Given the description of an element on the screen output the (x, y) to click on. 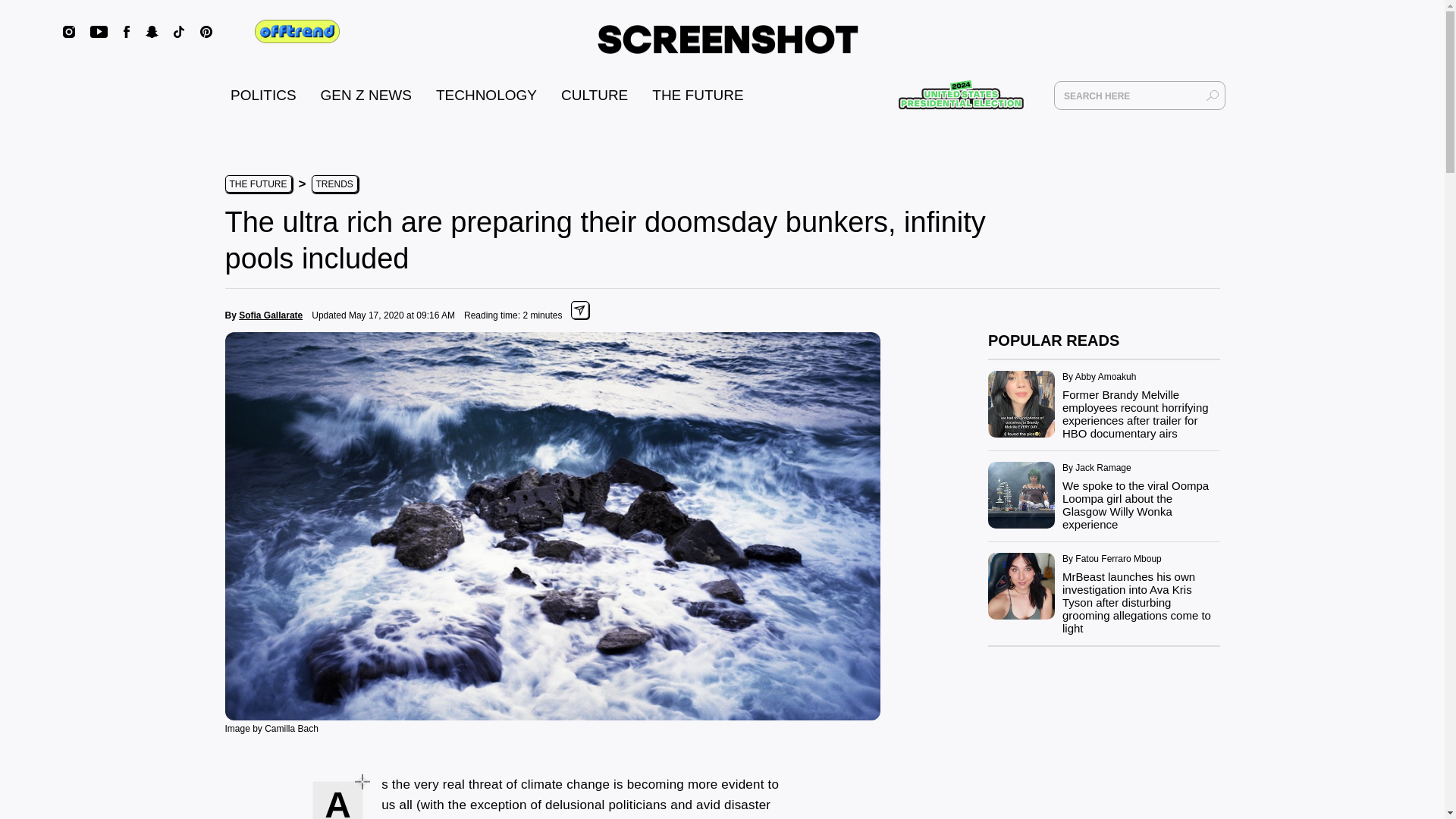
Sofia Gallarate (270, 315)
THE FUTURE (697, 94)
GEN Z NEWS (366, 94)
TRENDS (333, 184)
THE FUTURE (257, 184)
CULTURE (593, 94)
POLITICS (263, 94)
TECHNOLOGY (486, 94)
